Given the description of an element on the screen output the (x, y) to click on. 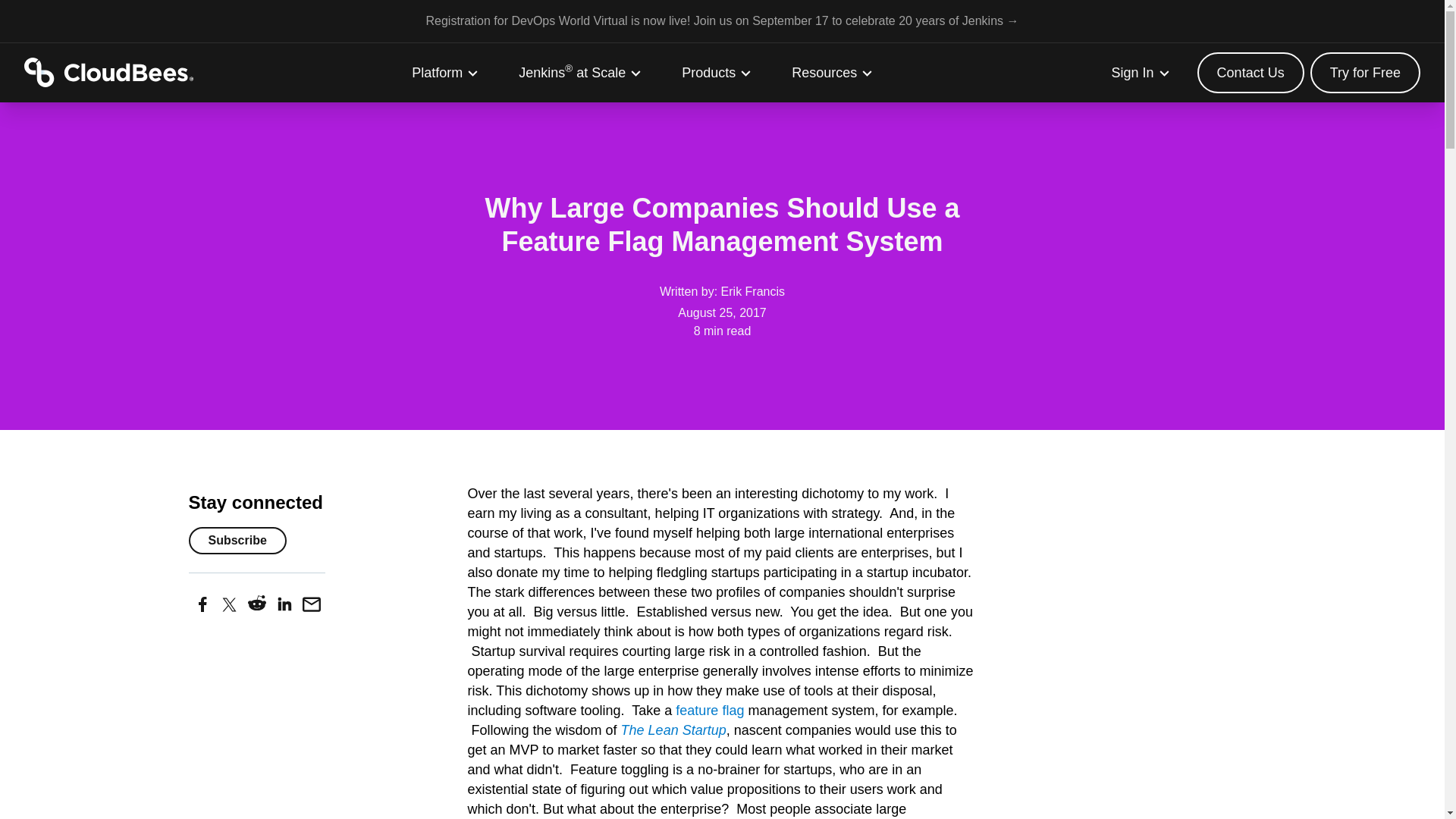
Platform (445, 72)
Products (716, 72)
